Given the description of an element on the screen output the (x, y) to click on. 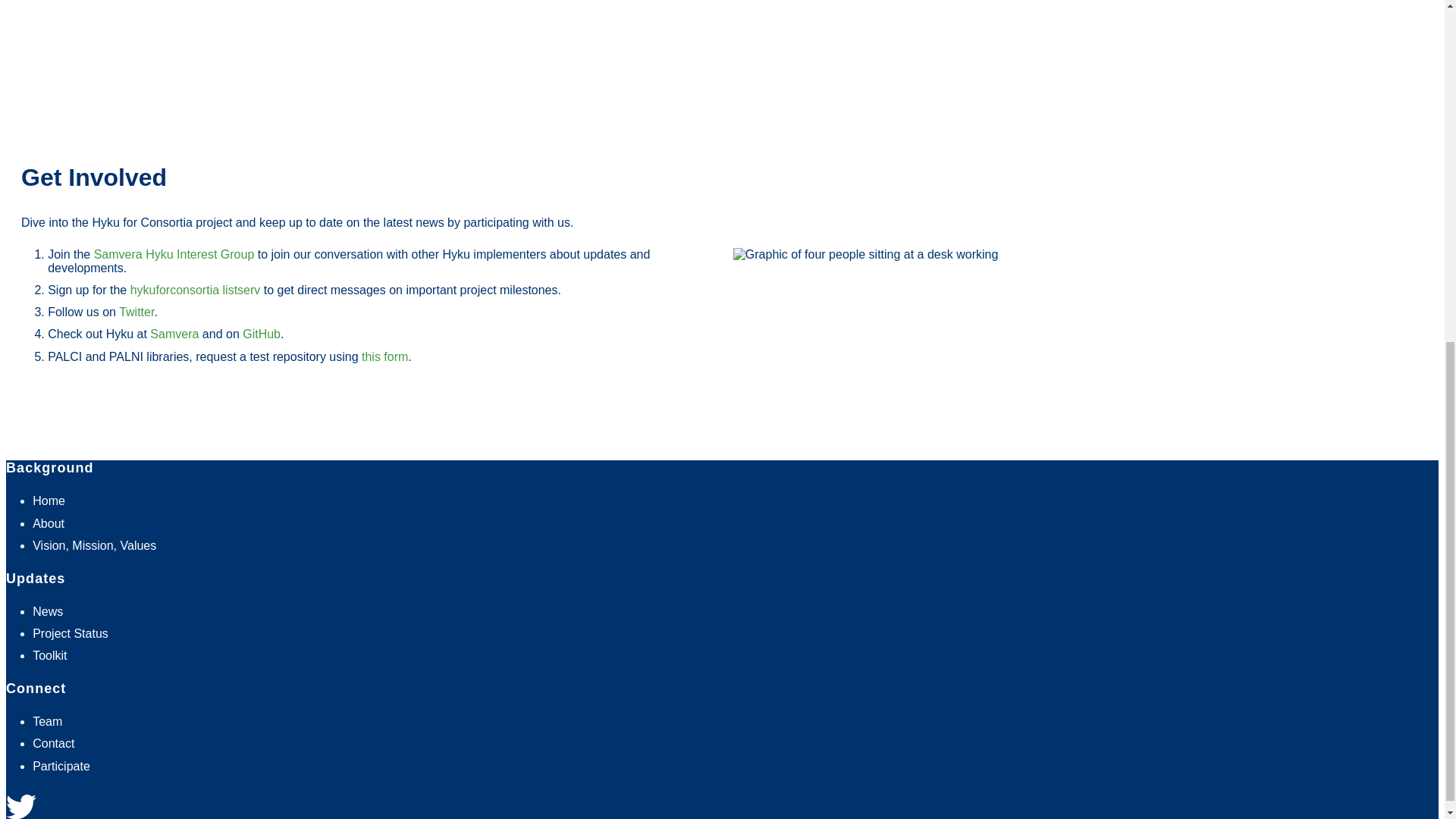
Team (47, 721)
GitHub (262, 333)
About (48, 522)
Toolkit (49, 655)
Samvera (173, 333)
Home (48, 500)
this form (384, 356)
hykuforconsortia listserv (195, 289)
Vision, Mission, Values (93, 545)
Project Status (69, 633)
Participate (61, 766)
Twitter (136, 311)
News (47, 611)
Contact (53, 743)
Samvera Hyku Interest Group (174, 254)
